Given the description of an element on the screen output the (x, y) to click on. 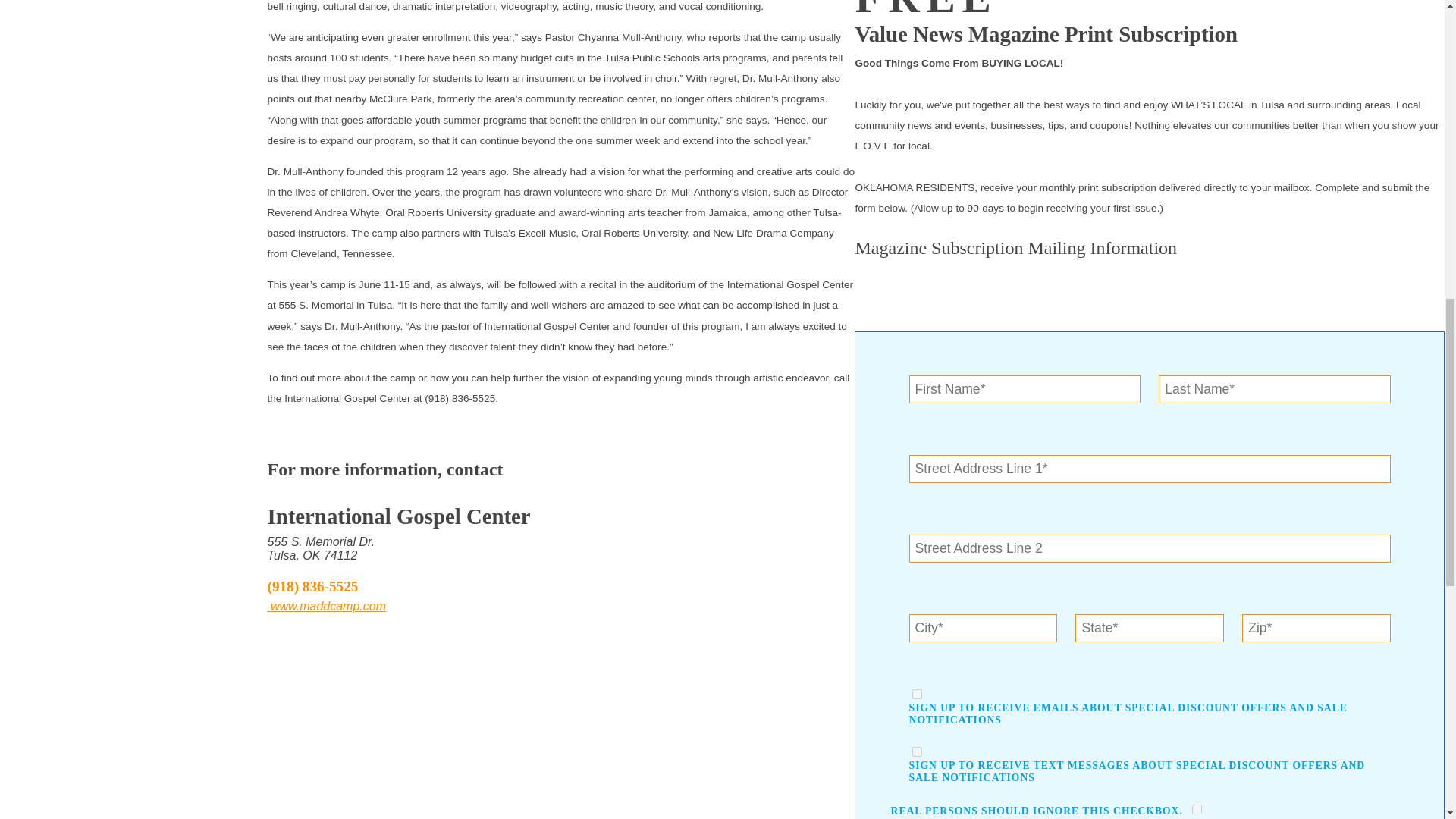
1 (1197, 809)
1 (916, 751)
1 (916, 694)
 www.maddcamp.com (325, 605)
